Given the description of an element on the screen output the (x, y) to click on. 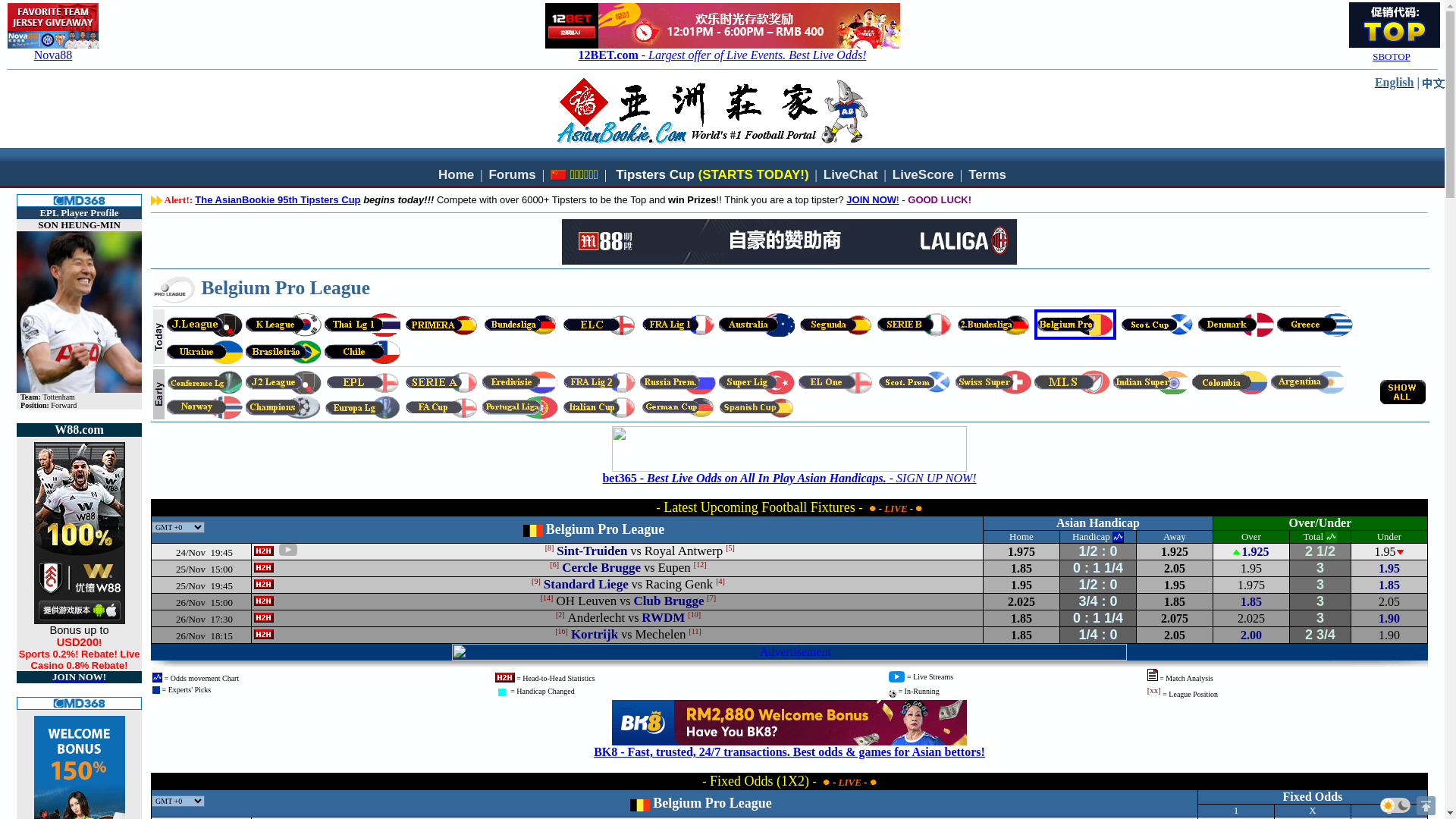
Head-To-Head Stats Element type: hover (263, 567)
3 Element type: text (1319, 618)
Enable dark mode Element type: hover (1395, 804)
Terms Element type: text (987, 173)
2 3/4 Element type: text (1319, 635)
-German Cup- Element type: hover (677, 407)
-EUROPA- Element type: hover (362, 407)
-FA Cup- Element type: hover (441, 407)
The AsianBookie 95th Tipsters Cup Element type: text (277, 199)
-Serie A- Element type: hover (441, 382)
-K League- Element type: hover (283, 324)
-La Liga- Element type: hover (441, 324)
Head-To-Head Stats Element type: hover (263, 584)
Live stream starts 10-15 mins before kickoff Element type: hover (288, 549)
Forums Element type: text (511, 173)
-English League One- Element type: hover (835, 382)
-Scotland Premier- Element type: hover (914, 382)
-Scotland Cup- Element type: hover (1157, 324)
Head-To-Head Stats Element type: hover (263, 550)
-Chile Primera- Element type: hover (362, 351)
-J2 League- Element type: hover (283, 382)
1/2 : 0 Element type: text (1097, 585)
-Greece Super League- Element type: hover (1314, 324)
Nova88 Element type: text (53, 54)
LiveChat Element type: text (850, 173)
LiveScore Element type: text (922, 173)
3 Element type: text (1319, 568)
-Colombia Primera A- Element type: hover (1229, 382)
-Australia A-League- Element type: hover (756, 324)
Click below for Odds Movement Chart Element type: hover (1117, 536)
-ECL- Element type: hover (204, 382)
Go back to top Element type: hover (1425, 805)
12BET.com - Largest offer of Live Events. Best Live Odds! Element type: text (722, 54)
0 : 1 1/4 Element type: text (1097, 618)
3 Element type: text (1319, 585)
-German 2.Bundesliga- Element type: hover (993, 324)
-Norway Eliteserien- Element type: hover (204, 407)
-Switzerland Super League- Element type: hover (993, 382)
-Turkey Super Lig- Element type: hover (756, 382)
-Ukraine Premier League- Element type: hover (204, 351)
-Argentina Primera- Element type: hover (1308, 382)
-Spain Cup- Element type: hover (756, 407)
-Segunda- Element type: hover (835, 324)
Tipsters Cup (STARTS TODAY!) Element type: text (711, 173)
-Japan J League- Element type: hover (204, 324)
-France Ligue 1- Element type: hover (677, 324)
ALL Element type: hover (1402, 391)
Head-To-Head Stats Element type: hover (263, 600)
0 : 1 1/4 Element type: text (1097, 568)
-Indian Super- Element type: hover (1151, 382)
-Portugal Liga- Element type: hover (520, 407)
-France Ligue 2- Element type: hover (599, 382)
-Thai Premier- Element type: hover (362, 324)
-GBL- Element type: hover (520, 324)
JOIN NOW! Element type: text (79, 675)
Head-To-Head Stats Element type: hover (263, 617)
Home Element type: text (455, 173)
SBOTOP Element type: text (1391, 55)
Click below for O/U Odds Movement Chart Element type: hover (1330, 536)
-EPL- Element type: hover (362, 382)
2 1/2 Element type: text (1319, 551)
3 Element type: text (1319, 601)
English Element type: text (1394, 81)
-Denmark Superliga- Element type: hover (1236, 324)
-Brazil Serie A- Element type: hover (283, 351)
1/2 : 0 Element type: text (1097, 551)
-SERIE B- Element type: hover (914, 324)
JOIN NOW! Element type: text (872, 199)
-Italian Cup- Element type: hover (599, 407)
-Belgium Pro- Element type: hover (1075, 324)
-Ned 1- Element type: hover (520, 382)
Head-To-Head Stats Element type: hover (263, 634)
-UEFA Champions League- Element type: hover (283, 407)
-Major League Soccer- Element type: hover (1072, 382)
3/4 : 0 Element type: text (1097, 601)
-English Lg Championship 1- Element type: hover (599, 324)
-Russia Premier League- Element type: hover (677, 382)
1/4 : 0 Element type: text (1097, 635)
